Given the description of an element on the screen output the (x, y) to click on. 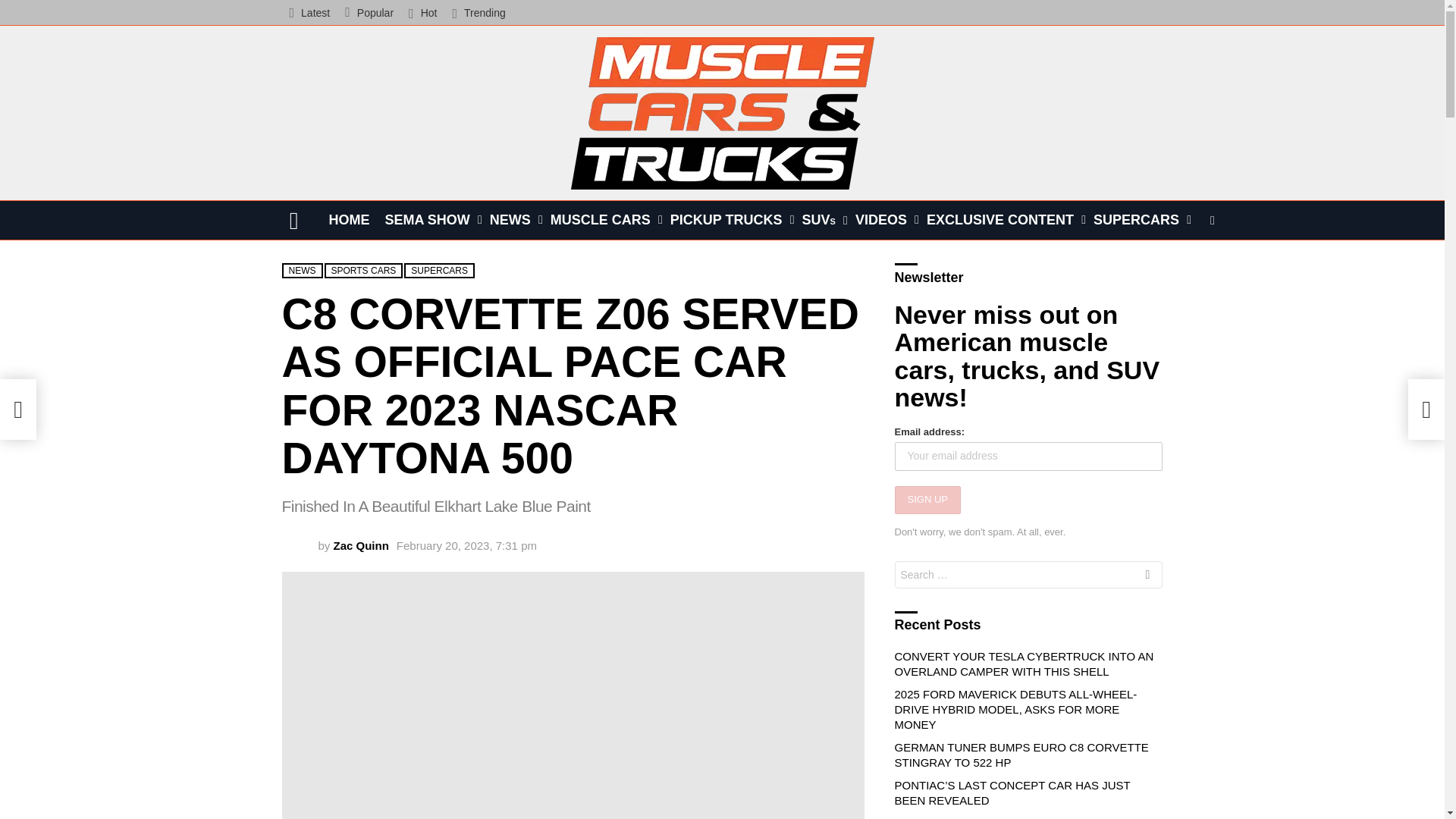
NEWS (512, 219)
MUSCLE CARS (602, 219)
Sign up (927, 500)
Sign up (402, 338)
Hot (422, 12)
Trending (478, 12)
SEMA SHOW (429, 219)
HOME (349, 219)
Latest (309, 12)
Popular (369, 12)
